Given the description of an element on the screen output the (x, y) to click on. 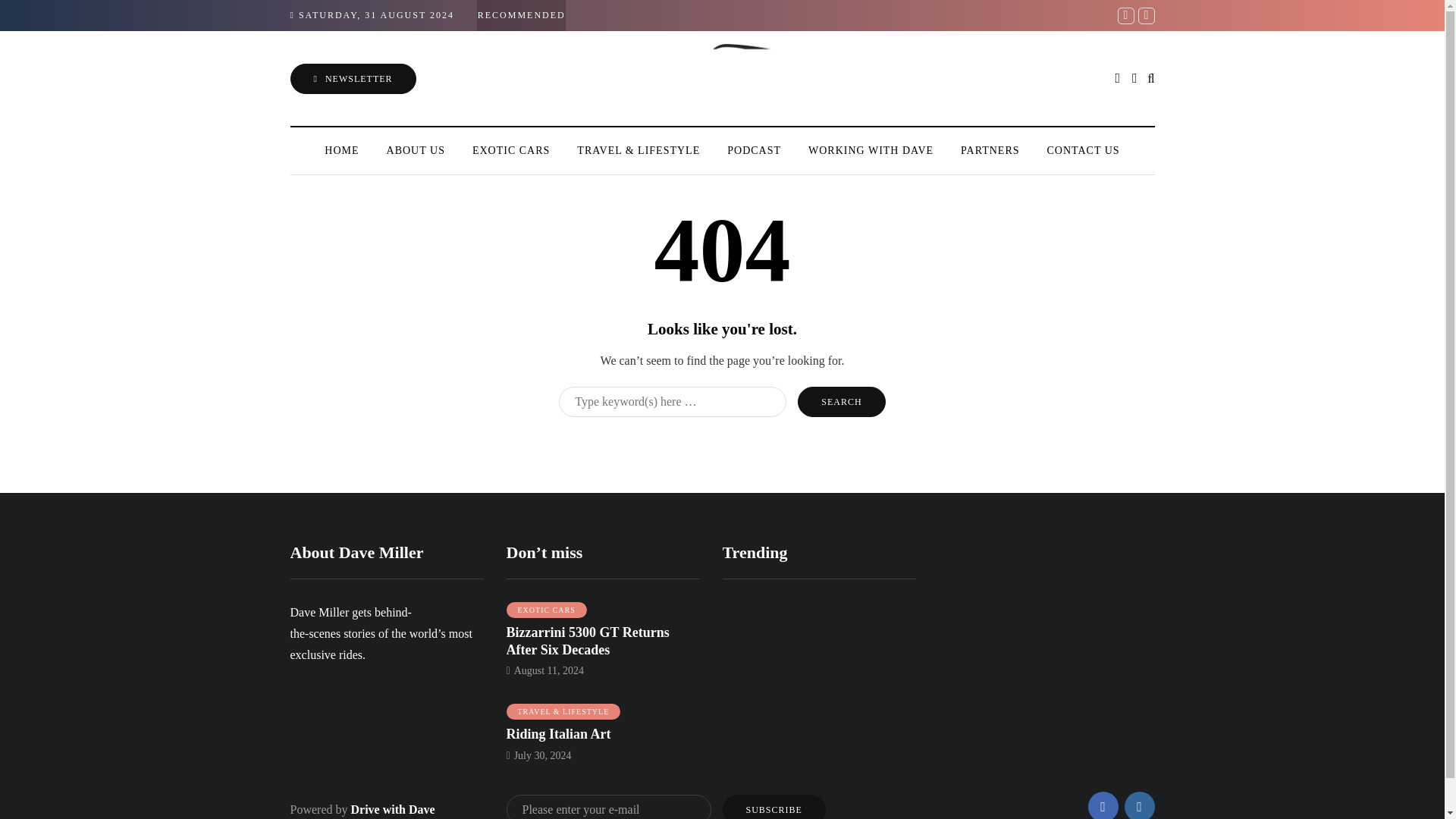
HOME (341, 150)
NEWSLETTER (351, 78)
WORKING WITH DAVE (870, 150)
Bizzarrini 5300 GT Returns After Six Decades (587, 641)
PODCAST (753, 150)
EXOTIC CARS (510, 150)
Riding Italian Art (558, 734)
CONTACT US (1083, 150)
Search (841, 401)
Search (841, 401)
